Given the description of an element on the screen output the (x, y) to click on. 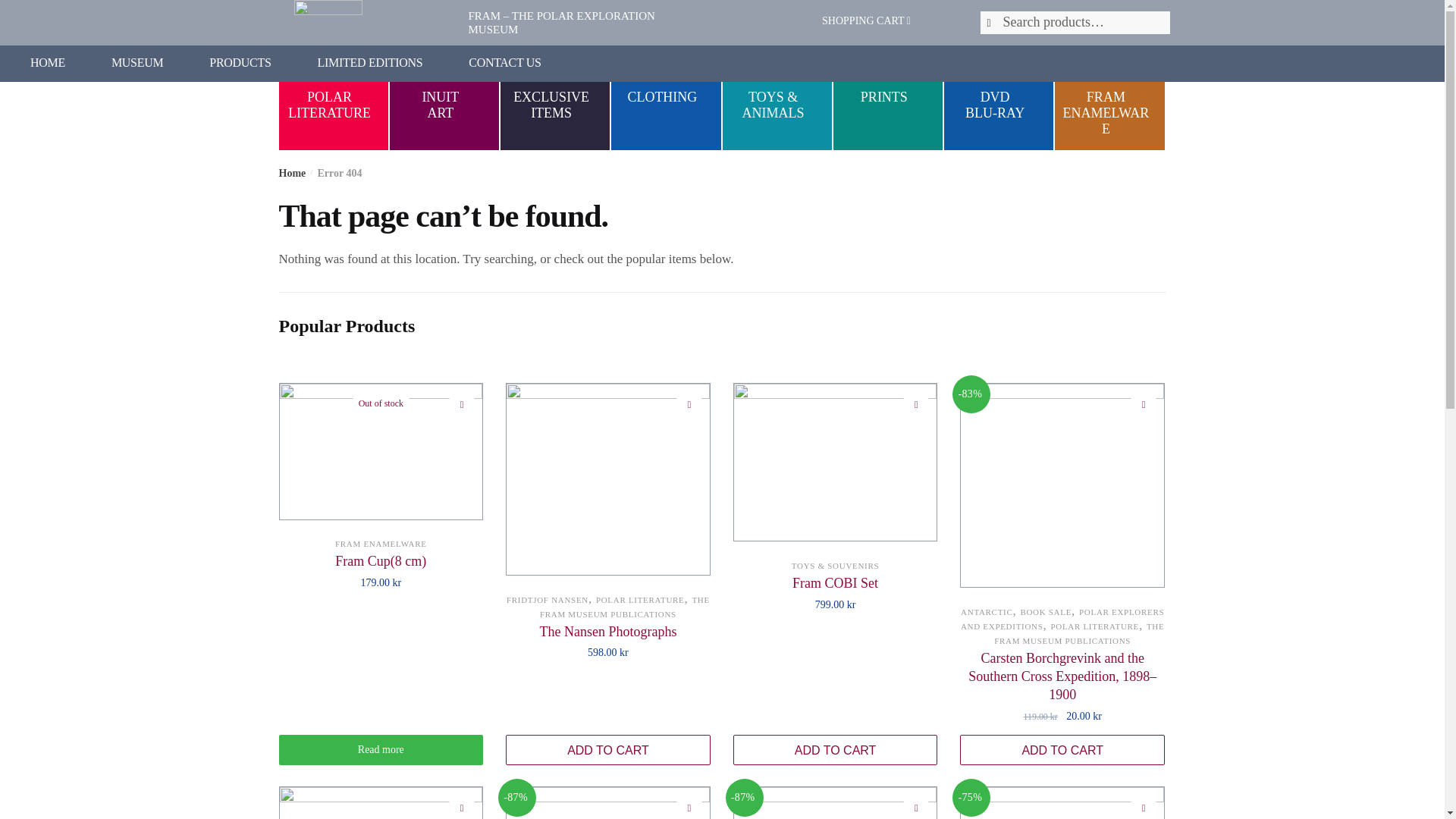
The Nansen Photographs (607, 631)
PRINTS (887, 97)
Add to Wishlist (462, 403)
Read more (444, 97)
THE FRAM MUSEUM PUBLICATIONS (381, 749)
Add to Wishlist (625, 607)
CONTACT US (689, 403)
Skip to navigation (504, 62)
FRAM ENAMELWARE (835, 583)
HOME (555, 97)
Roald Amundsen And The Exploration Of The Northwest Passage (380, 542)
